Given the description of an element on the screen output the (x, y) to click on. 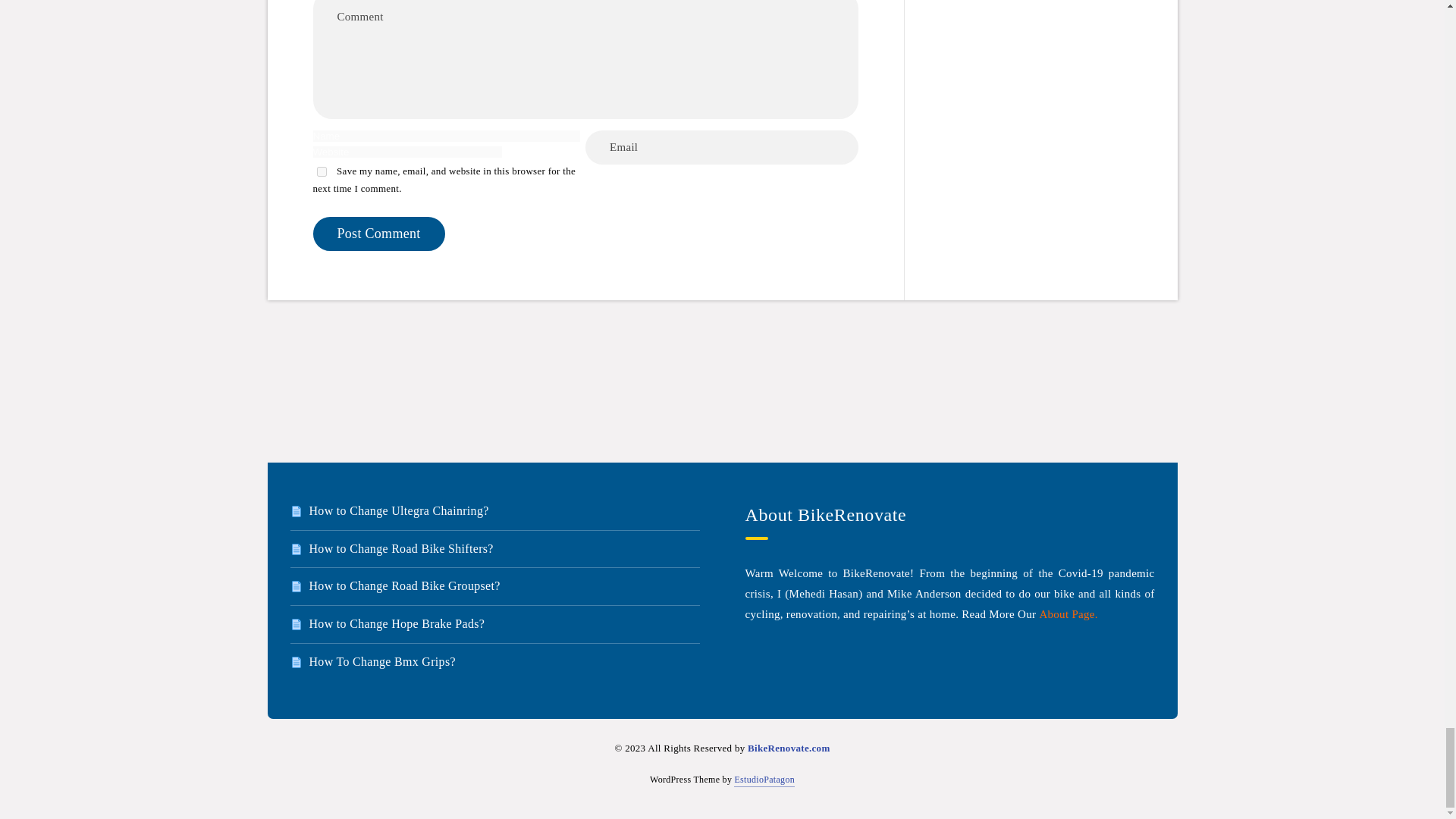
Post Comment (378, 233)
yes (321, 171)
Post Comment (378, 233)
Powered with Reco (763, 779)
